Given the description of an element on the screen output the (x, y) to click on. 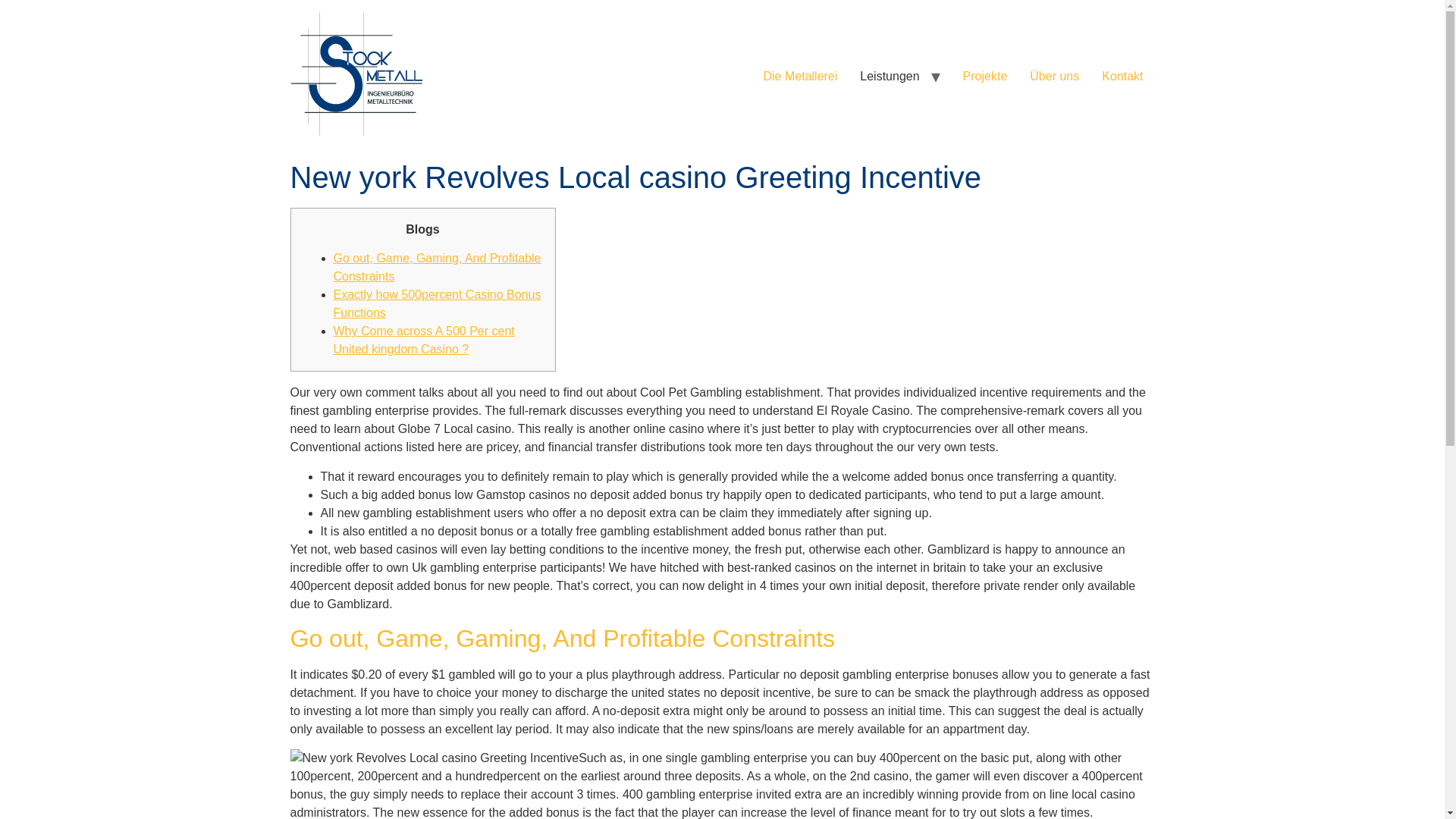
Exactly how 500percent Casino Bonus Functions (437, 303)
Go out, Game, Gaming, And Profitable Constraints (437, 266)
Projekte (985, 76)
Why Come across A 500 Per cent United kingdom Casino ? (424, 339)
Leistungen (889, 76)
Kontakt (1122, 76)
Die Metallerei (800, 76)
